Given the description of an element on the screen output the (x, y) to click on. 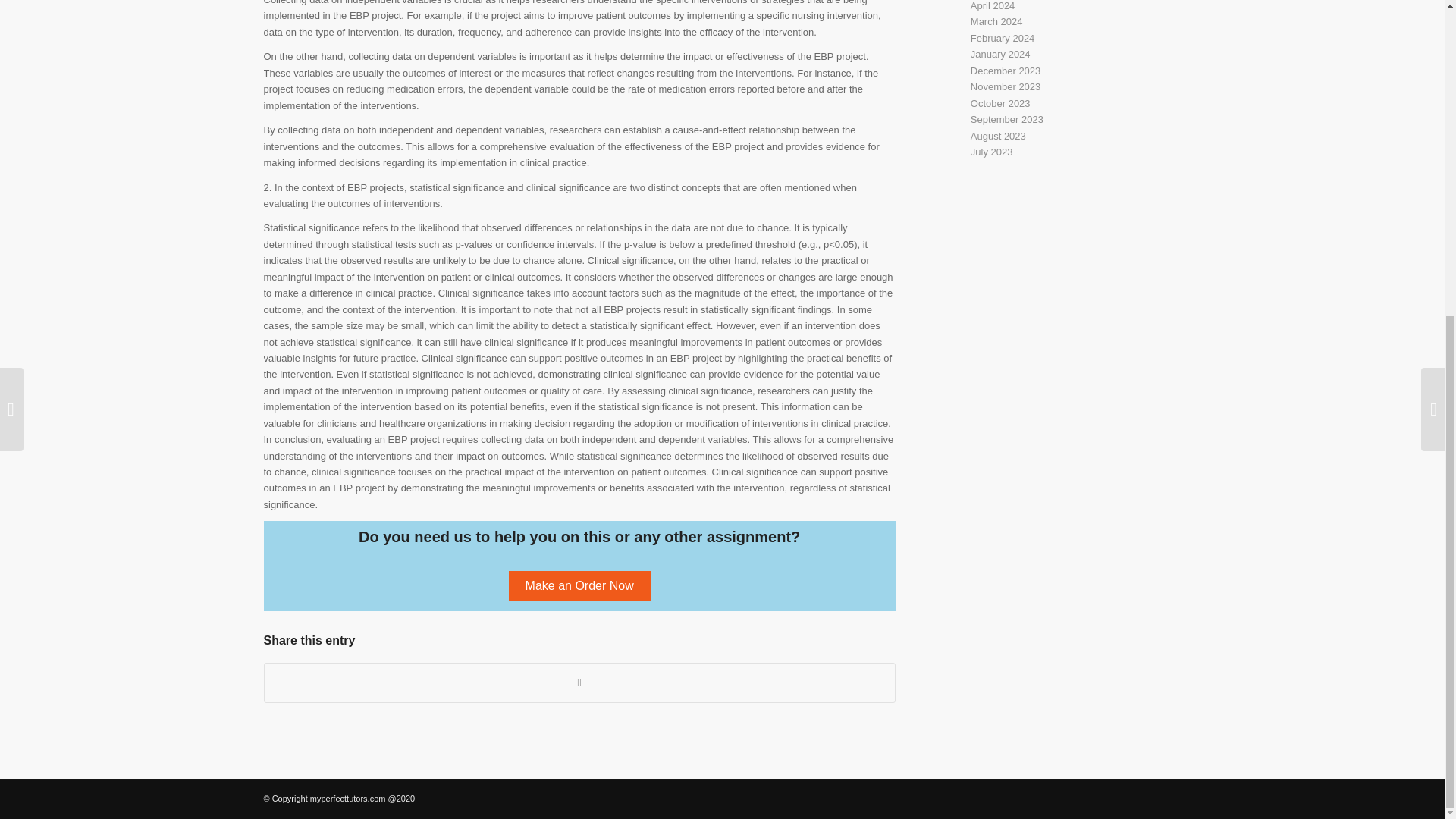
November 2023 (1006, 86)
January 2024 (1000, 53)
August 2023 (998, 135)
February 2024 (1003, 38)
April 2024 (992, 5)
March 2024 (997, 21)
September 2023 (1007, 119)
December 2023 (1006, 70)
July 2023 (992, 152)
Make an Order Now (579, 585)
